Given the description of an element on the screen output the (x, y) to click on. 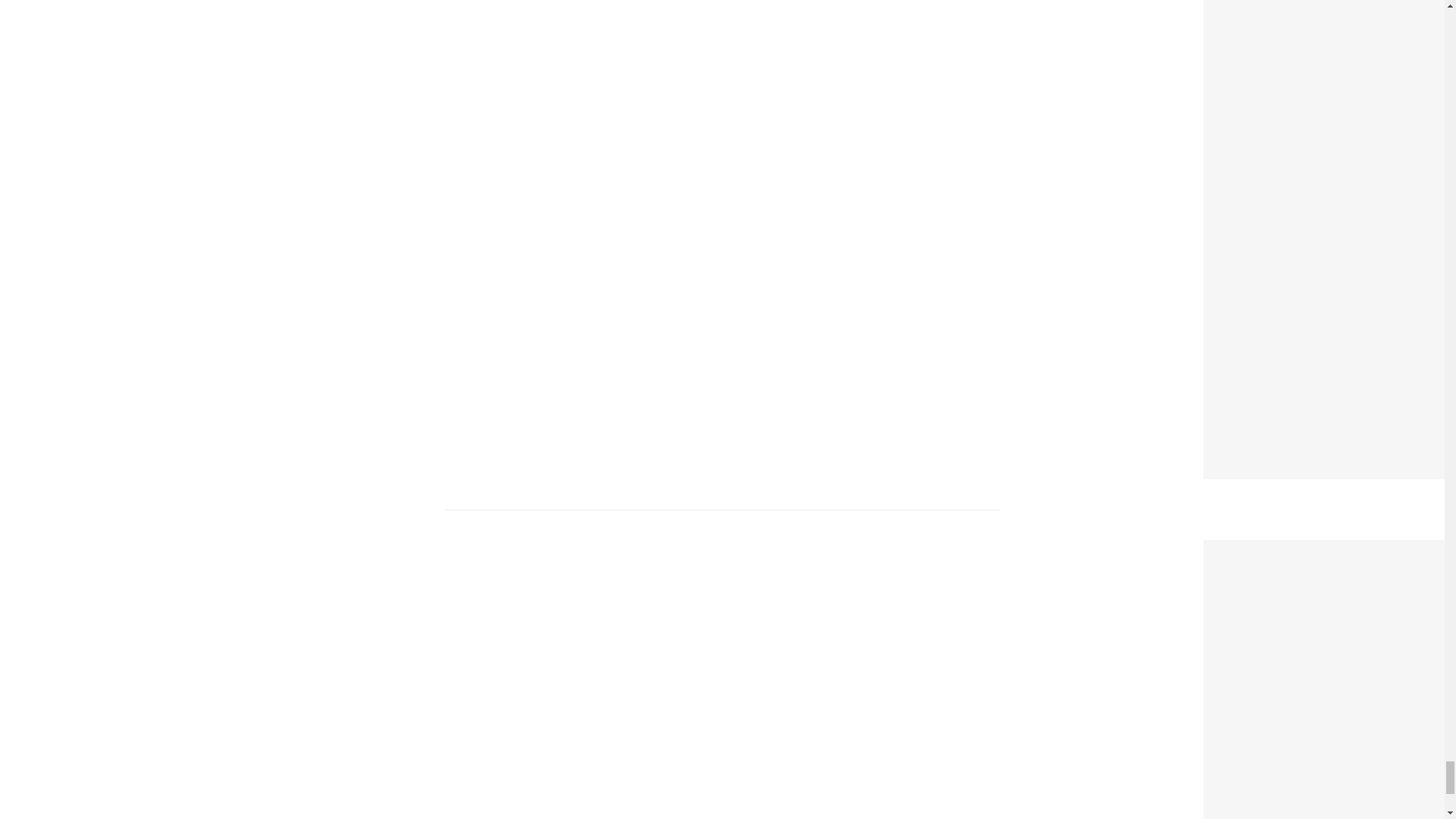
Sink Cabinet Liner (1263, 5)
Kitchen Design Ideas (1272, 549)
